Given the description of an element on the screen output the (x, y) to click on. 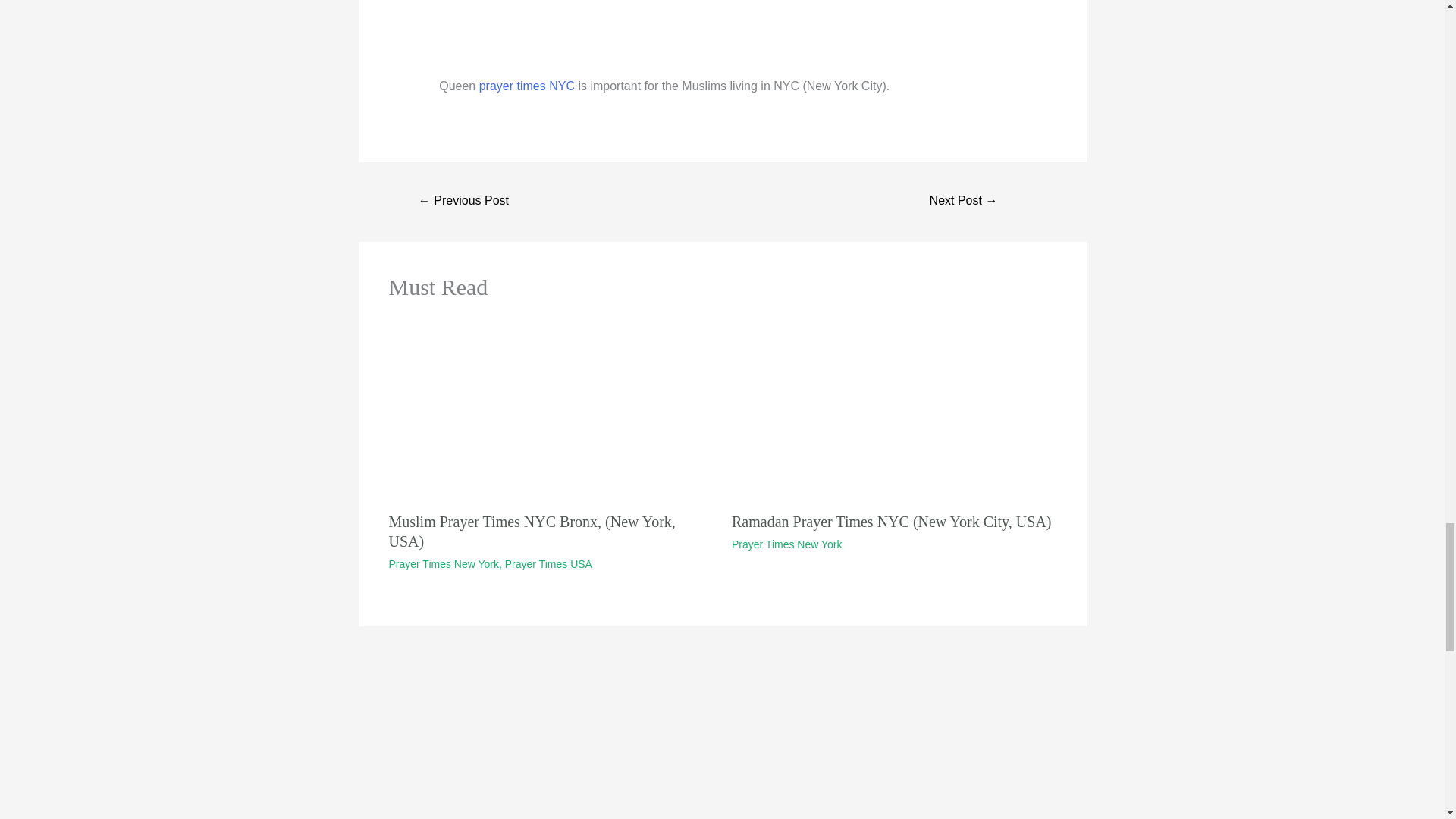
prayer times NYC (527, 85)
Advertisement (722, 37)
